Given the description of an element on the screen output the (x, y) to click on. 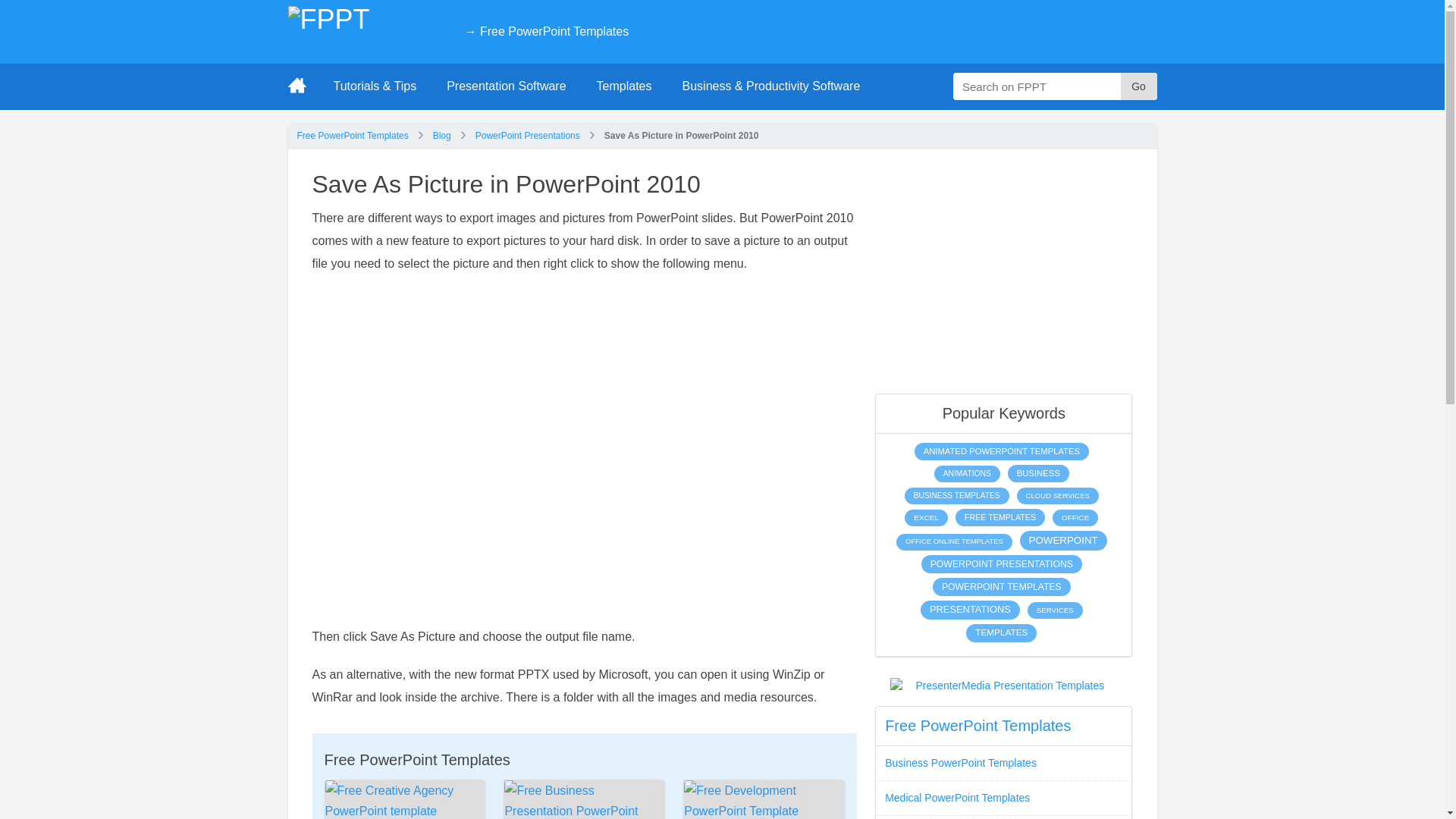
Free Creative Agency PowerPoint template (404, 799)
ANIMATIONS (967, 474)
Go (1139, 85)
Templates (623, 85)
PRESENTATIONS (970, 609)
BUSINESS TEMPLATES (956, 495)
FREE TEMPLATES (1000, 517)
POWERPOINT TEMPLATES (1001, 587)
Go (1139, 85)
Free PowerPoint Templates (353, 135)
